Given the description of an element on the screen output the (x, y) to click on. 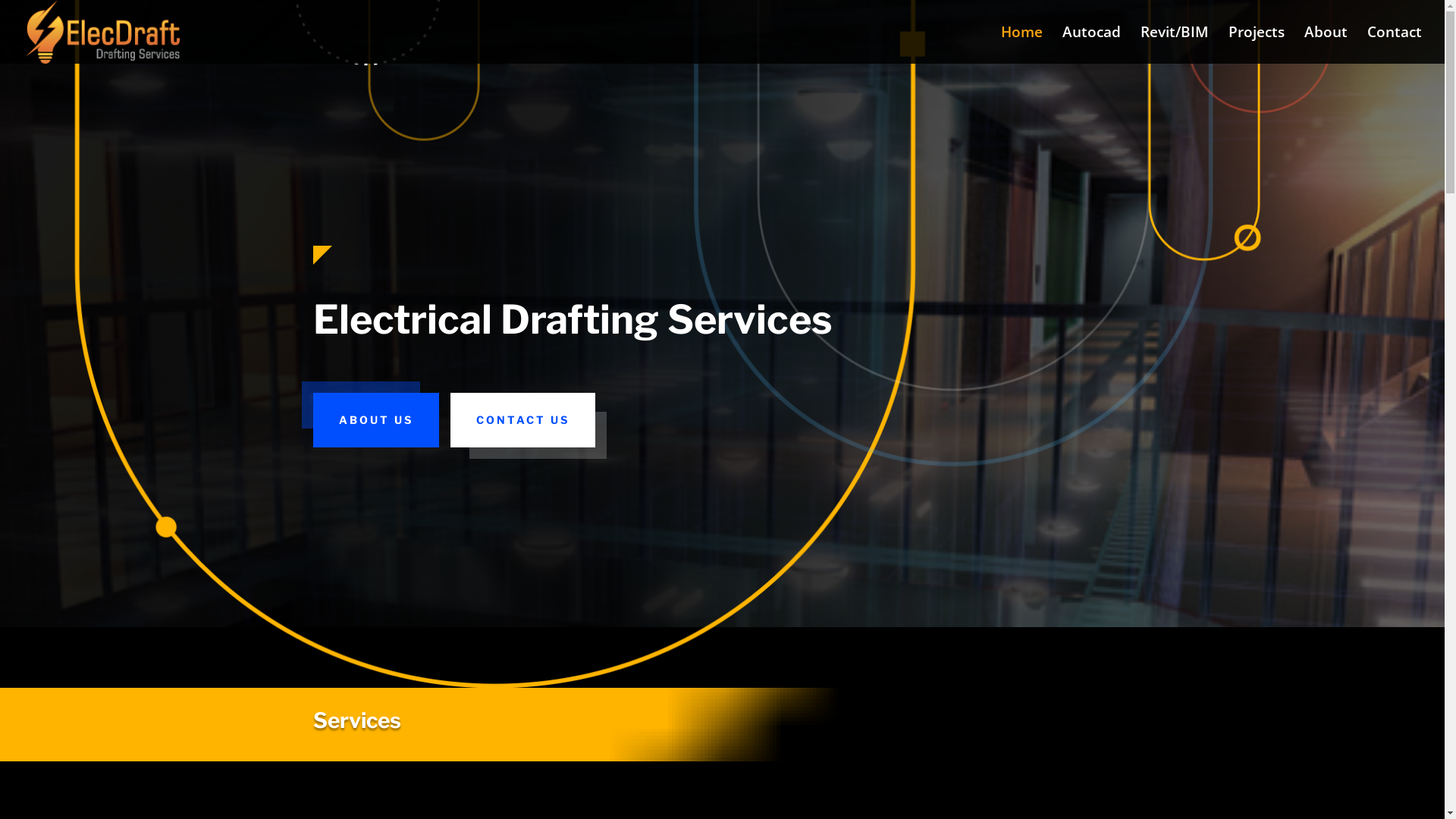
Autocad Element type: text (1091, 44)
Contact Element type: text (1394, 44)
Revit/BIM Element type: text (1174, 44)
ABOUT US Element type: text (375, 419)
CONTACT US Element type: text (522, 419)
About Element type: text (1325, 44)
Projects Element type: text (1256, 44)
Home Element type: text (1021, 44)
